Given the description of an element on the screen output the (x, y) to click on. 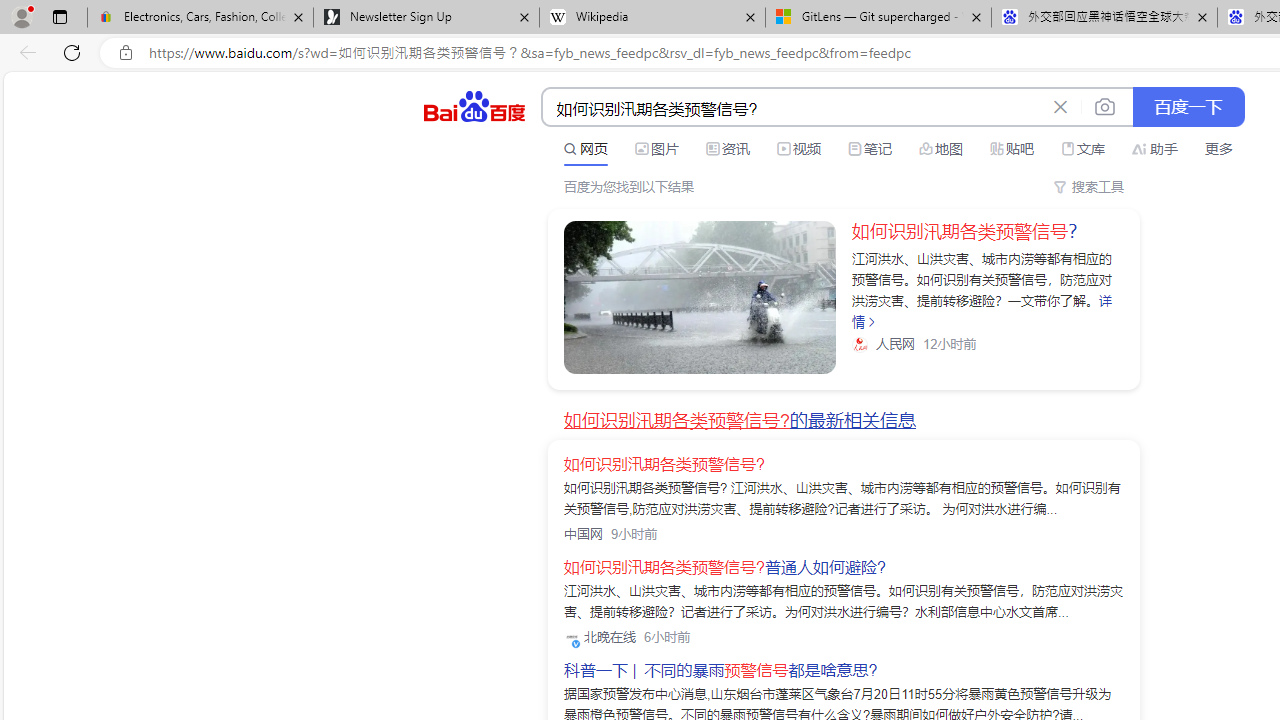
Newsletter Sign Up (425, 17)
